Given the description of an element on the screen output the (x, y) to click on. 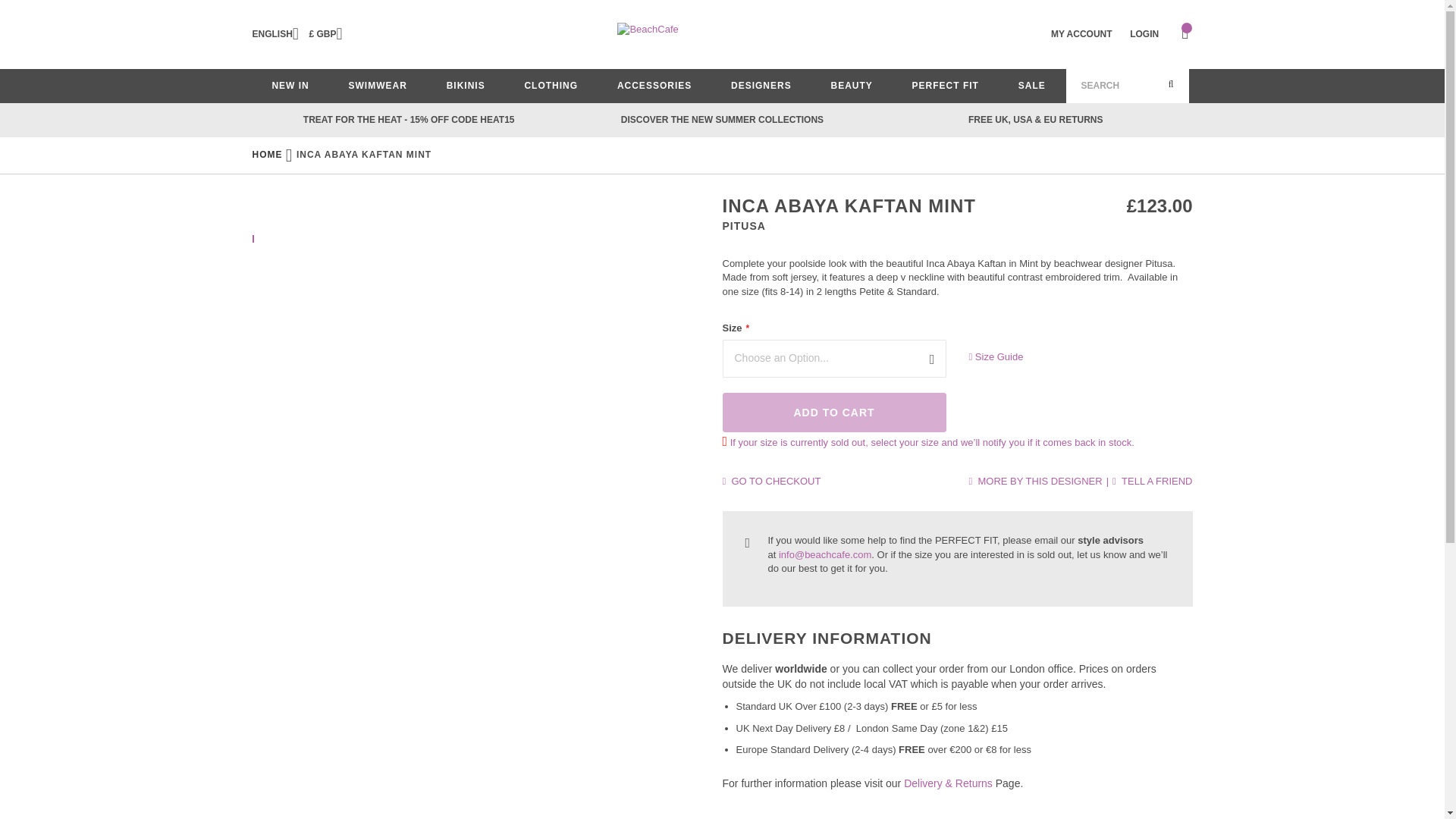
CLOTHING (551, 85)
BIKINIS (465, 85)
Go to Home Page (266, 154)
LOGIN (1143, 33)
SWIMWEAR (378, 85)
Size Guide (1074, 357)
Go to Checkout (771, 480)
More by this designer (1035, 480)
Tell a Friend (1152, 480)
BeachCafe (722, 33)
